Given the description of an element on the screen output the (x, y) to click on. 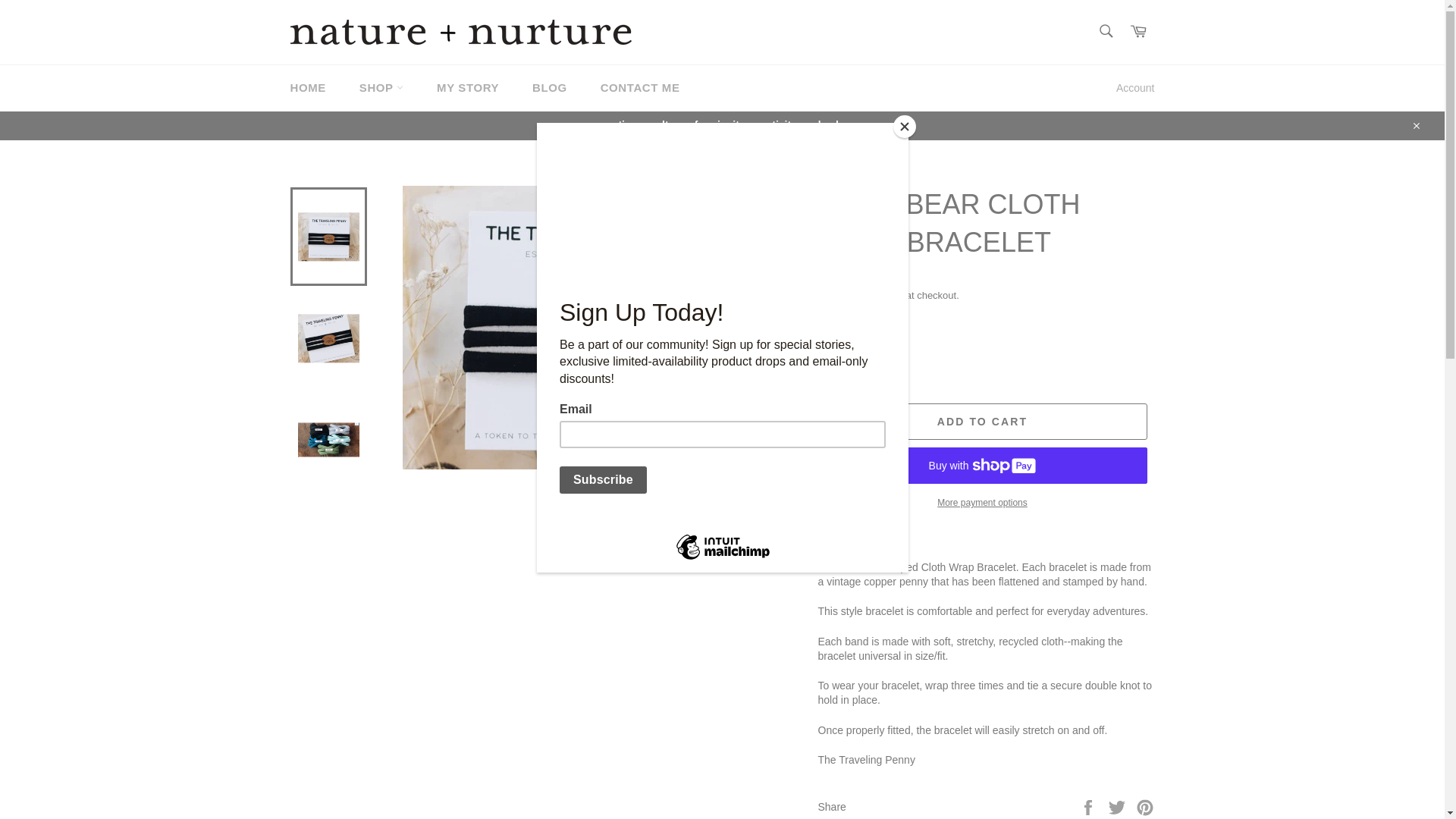
1 (850, 370)
Pin on Pinterest (1144, 806)
Tweet on Twitter (1118, 806)
Share on Facebook (1089, 806)
